Given the description of an element on the screen output the (x, y) to click on. 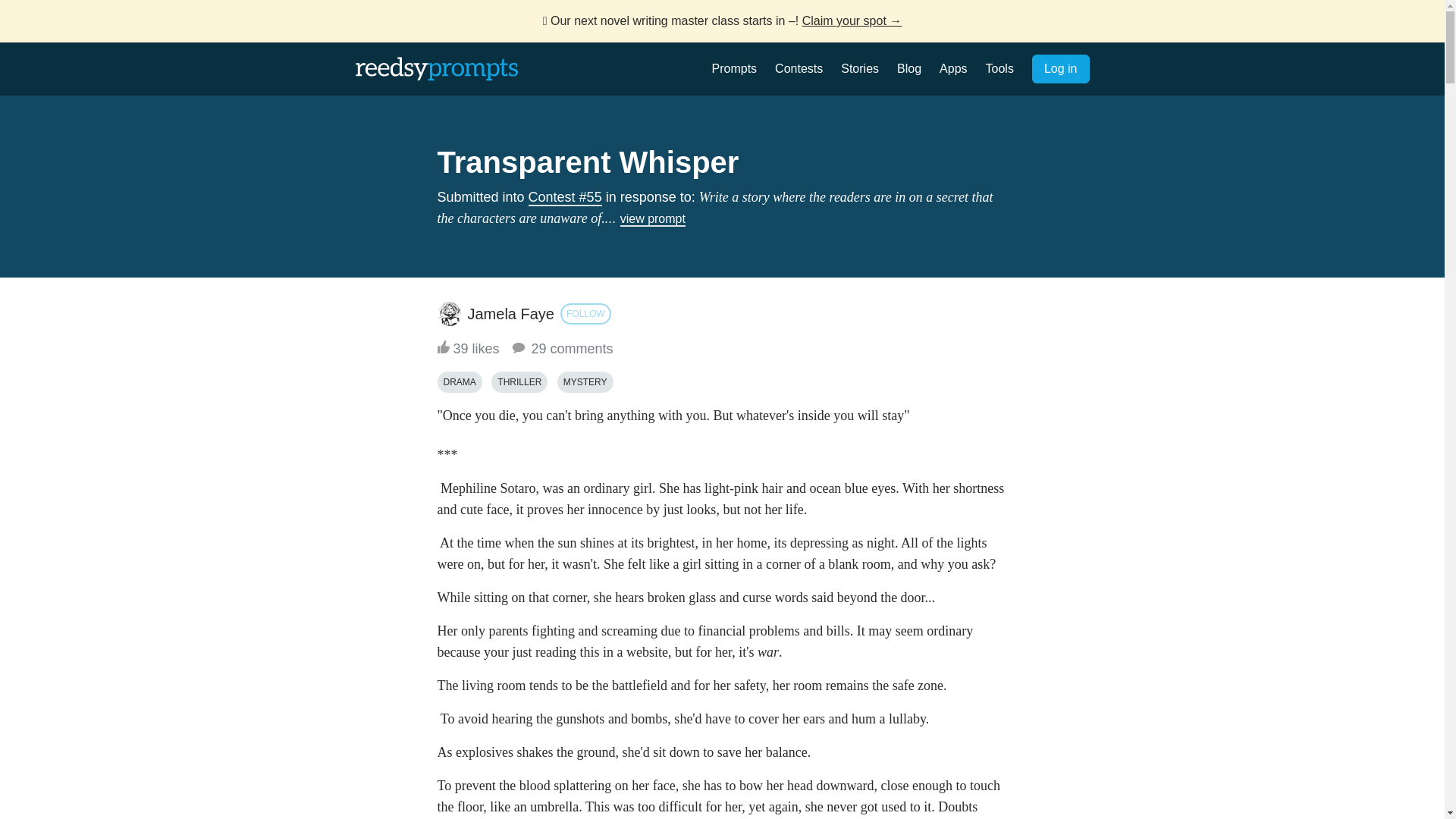
29 comments (560, 348)
Contests (798, 68)
Log in (1060, 68)
Stories (860, 68)
Apps (952, 68)
Blog (908, 68)
Tools (999, 68)
Prompts (734, 68)
